Given the description of an element on the screen output the (x, y) to click on. 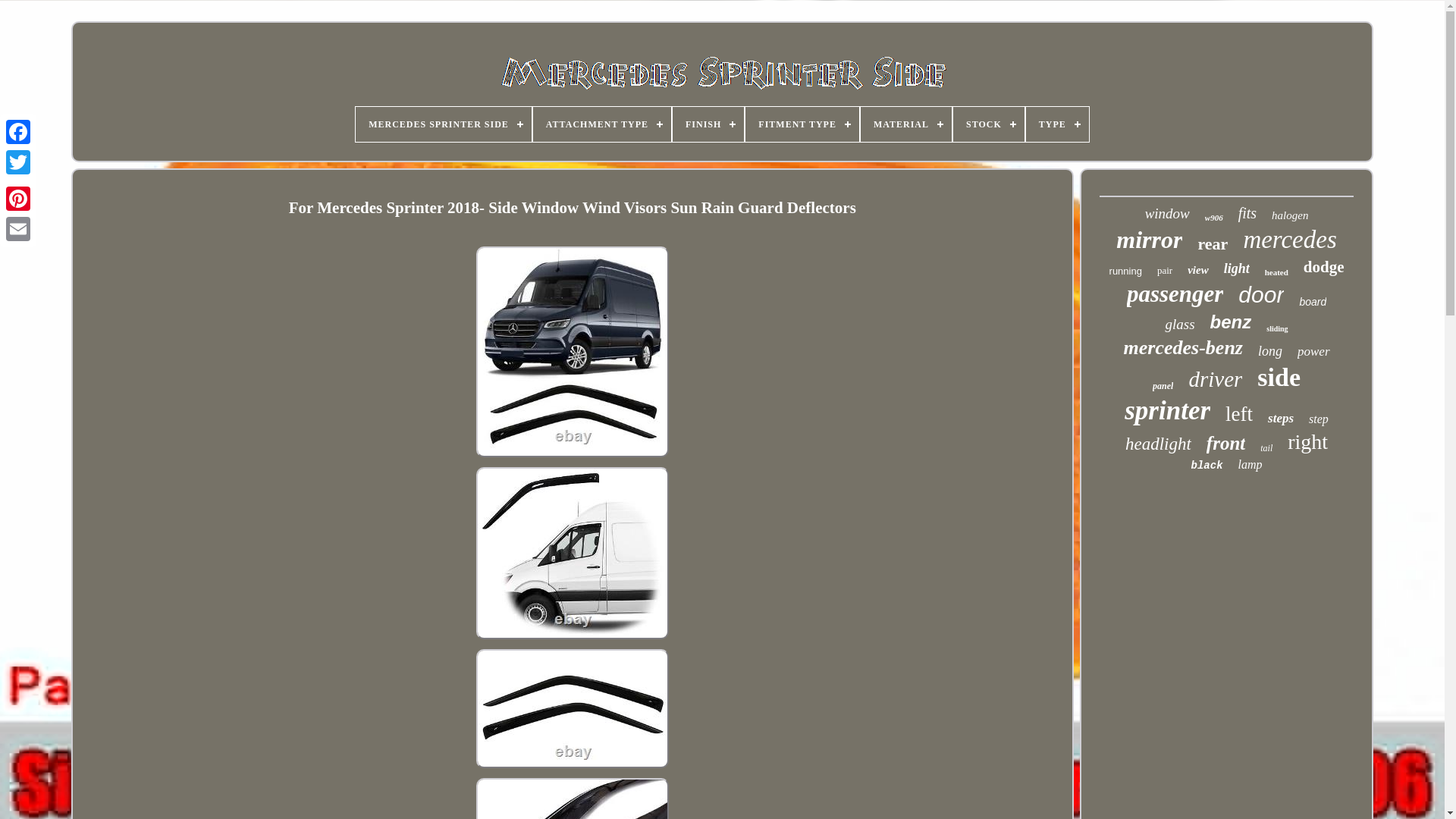
FINISH (708, 124)
MERCEDES SPRINTER SIDE (443, 124)
ATTACHMENT TYPE (601, 124)
